Given the description of an element on the screen output the (x, y) to click on. 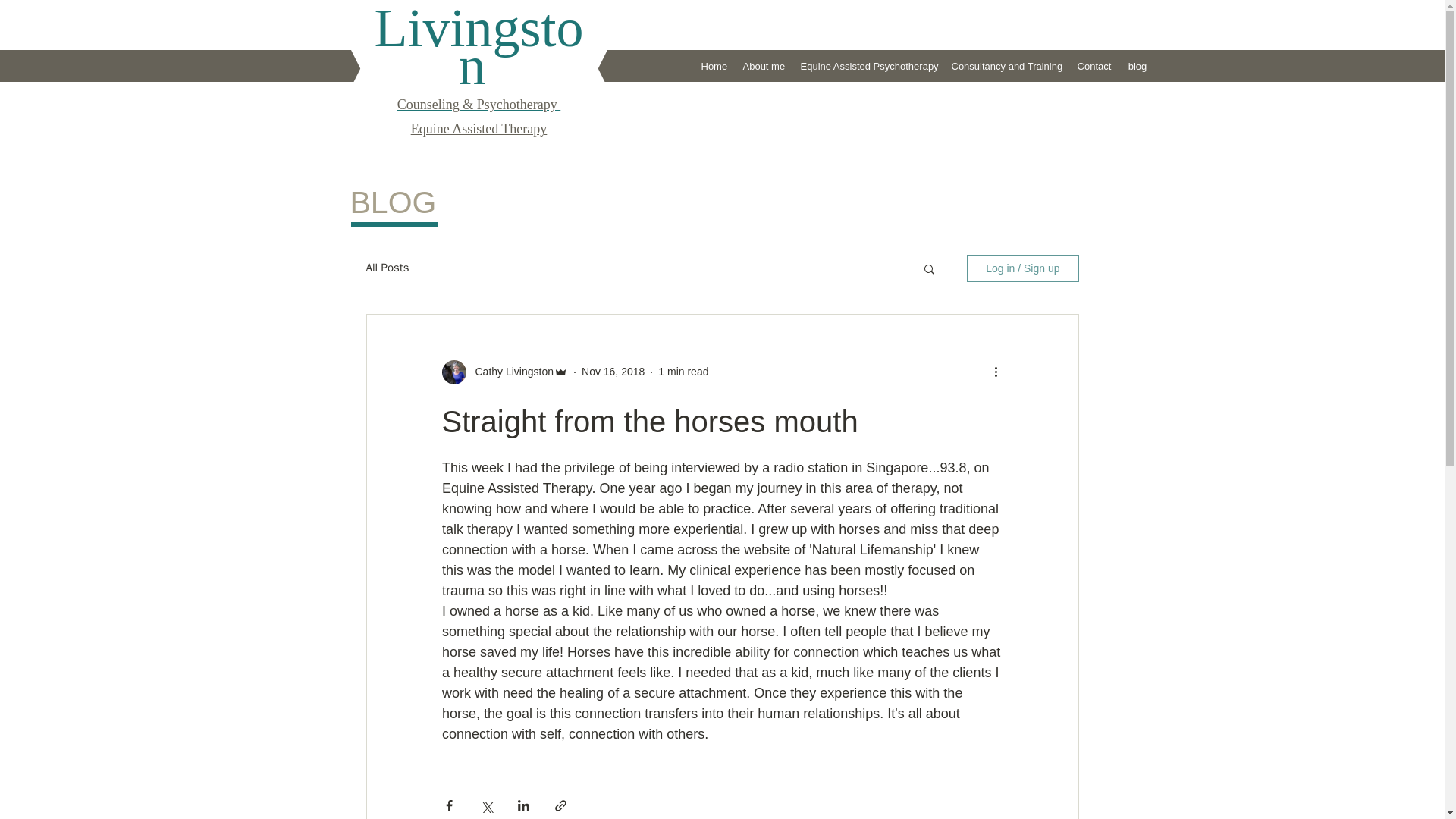
Nov 16, 2018 (612, 371)
About me (762, 66)
Cathy Livingston (509, 371)
All Posts (387, 268)
Equine Assisted Therapy (478, 128)
Consultancy and Training (1005, 66)
Contact (1093, 66)
Livingston (478, 48)
blog (1136, 66)
Home (714, 66)
